Given the description of an element on the screen output the (x, y) to click on. 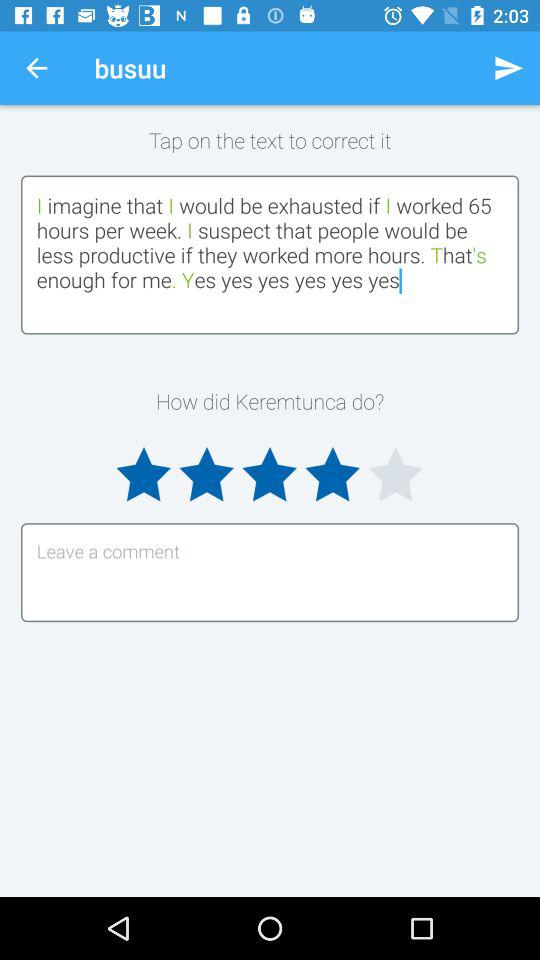
active comment area (270, 572)
